Given the description of an element on the screen output the (x, y) to click on. 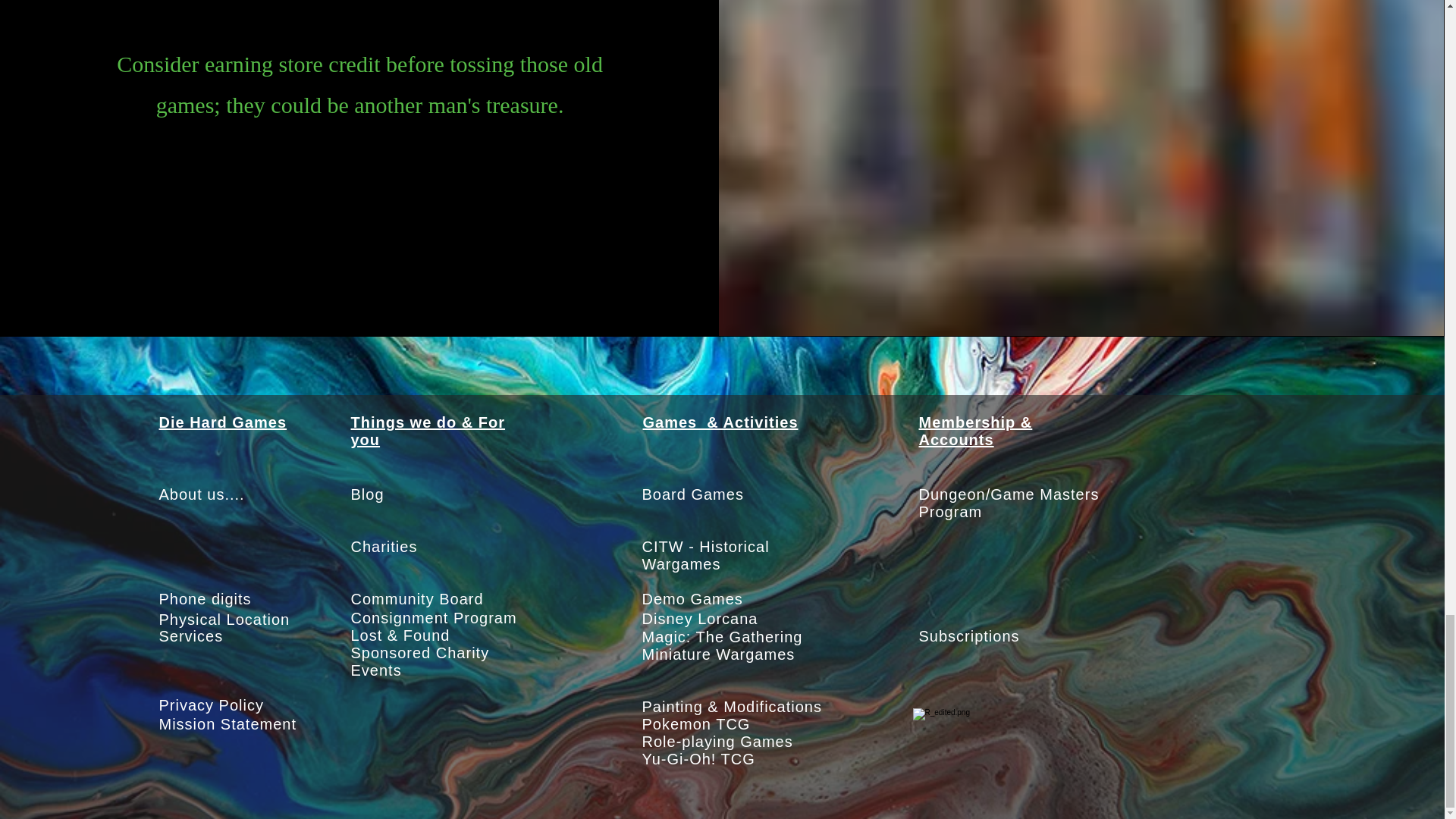
Role-playing Games (717, 741)
About us.... (201, 494)
Charities (383, 546)
Blog (367, 494)
Phone digits (204, 598)
Physical Location (223, 619)
Pokemon TCG (695, 723)
Yu-Gi-Oh! TCG (698, 759)
Magic: The Gathering (722, 636)
Mission Statement (227, 723)
CITW - Historical Wargames (705, 555)
Disney Lorcana (699, 618)
Miniature Wargames (718, 654)
Sponsored Charity Events (419, 661)
Community Board (416, 598)
